Given the description of an element on the screen output the (x, y) to click on. 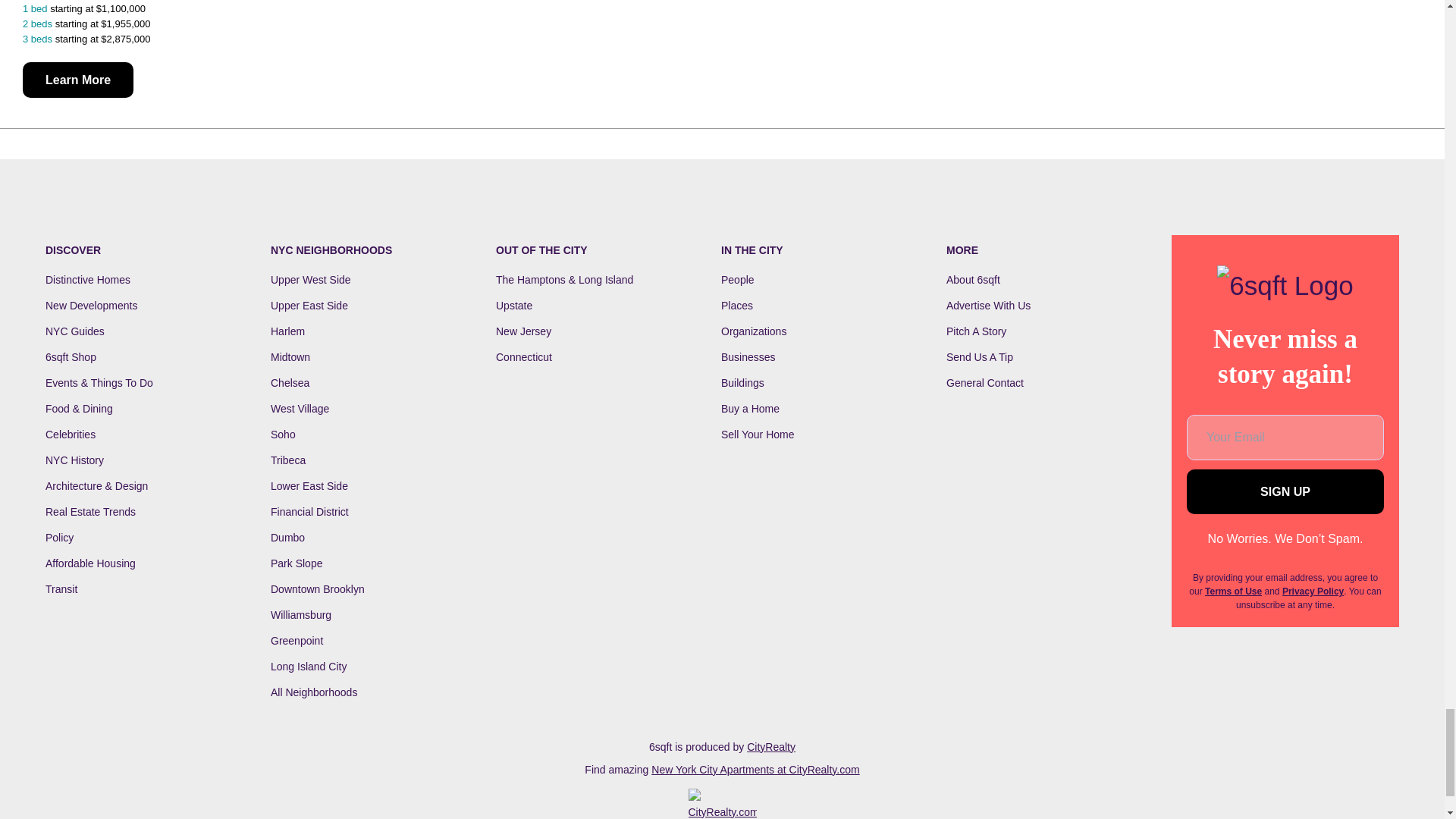
SIGN UP (1285, 491)
